Given the description of an element on the screen output the (x, y) to click on. 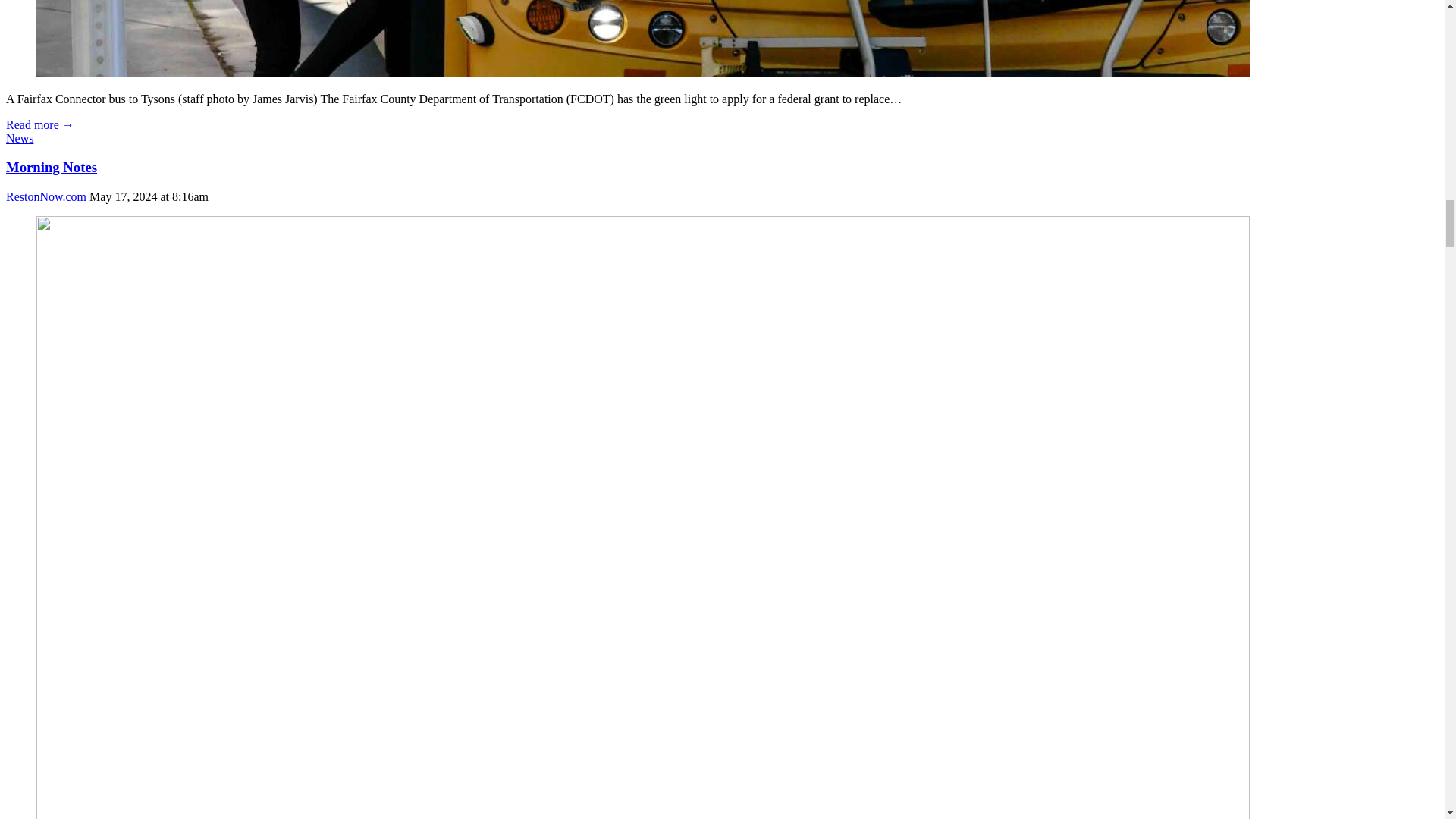
Posts by RestonNow.com (45, 196)
